Given the description of an element on the screen output the (x, y) to click on. 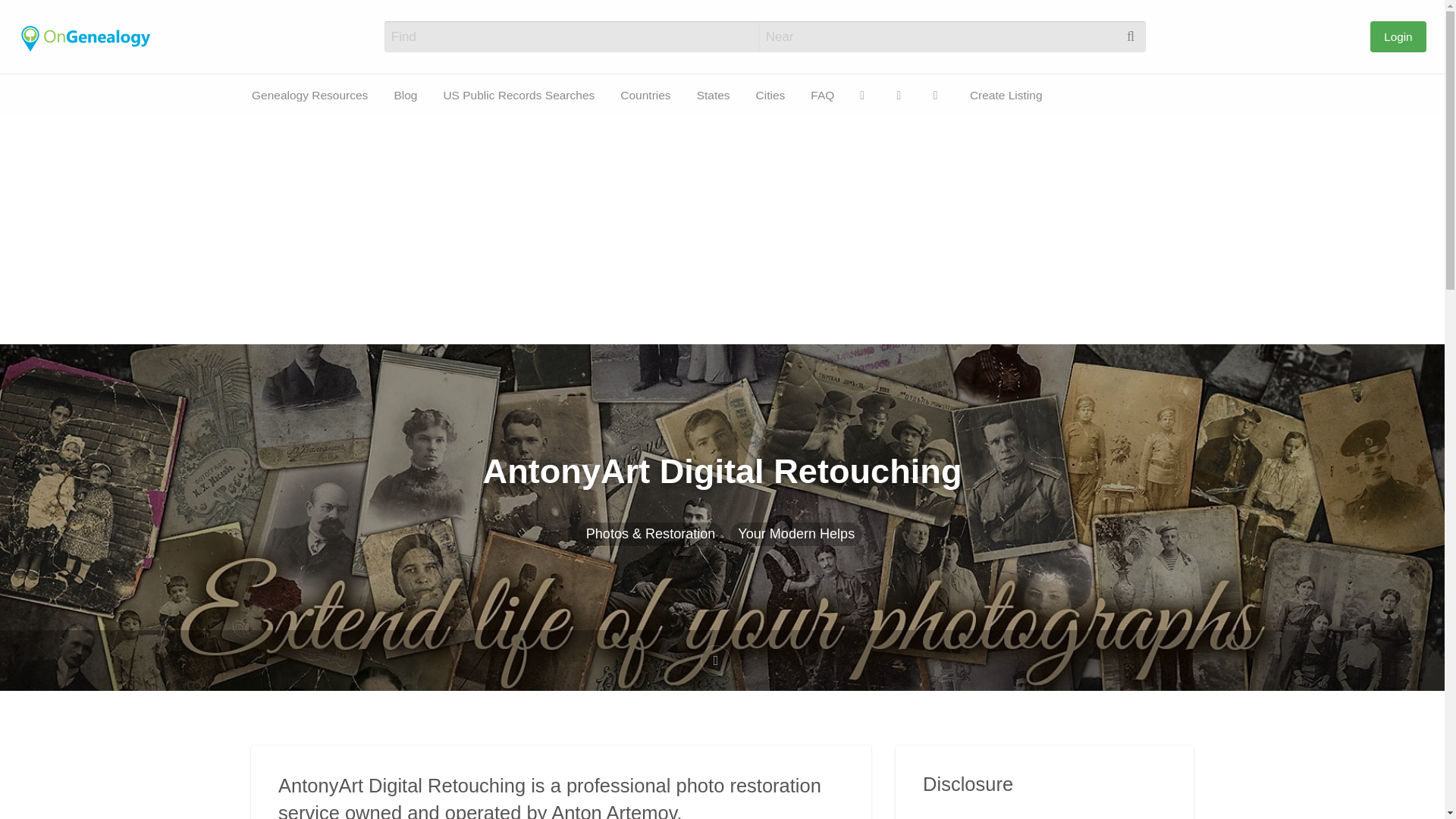
Search (30, 16)
